Given the description of an element on the screen output the (x, y) to click on. 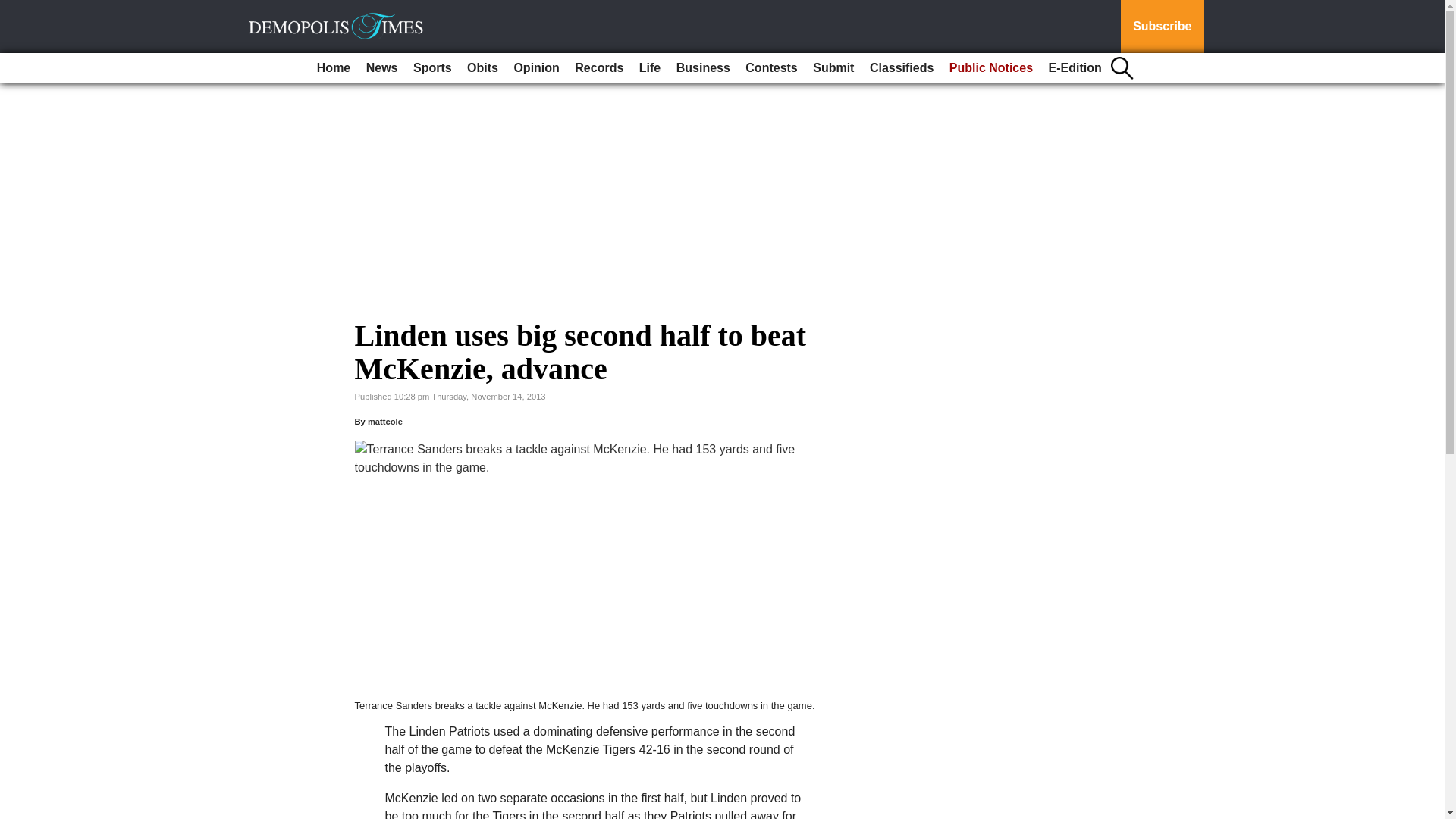
Obits (482, 68)
Business (702, 68)
Opinion (535, 68)
Public Notices (991, 68)
News (381, 68)
E-Edition (1075, 68)
Sports (432, 68)
Subscribe (1162, 26)
Home (333, 68)
Classifieds (901, 68)
Life (649, 68)
Submit (833, 68)
Records (598, 68)
Contests (771, 68)
Go (13, 9)
